Given the description of an element on the screen output the (x, y) to click on. 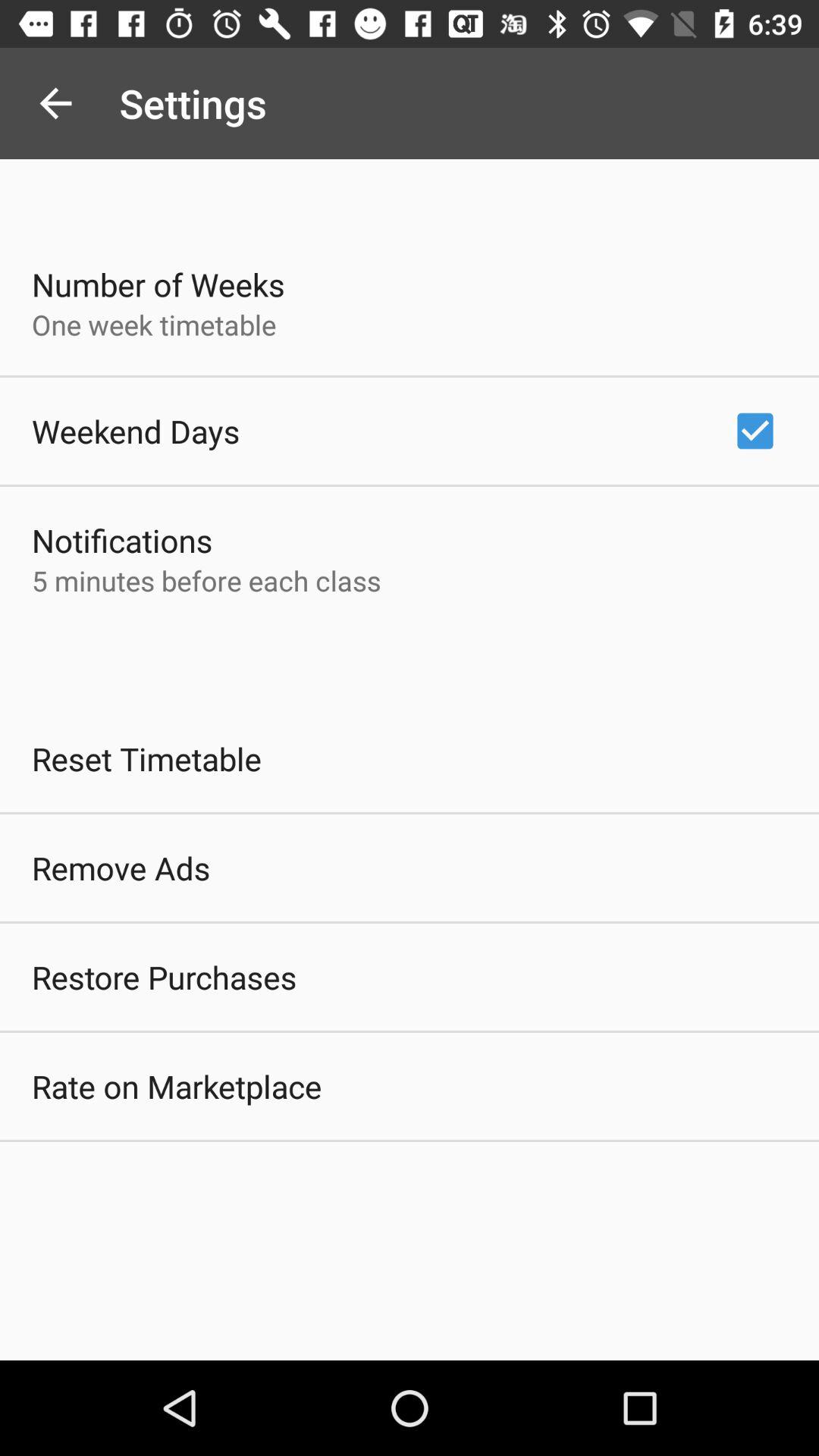
jump to rate on marketplace app (176, 1085)
